Given the description of an element on the screen output the (x, y) to click on. 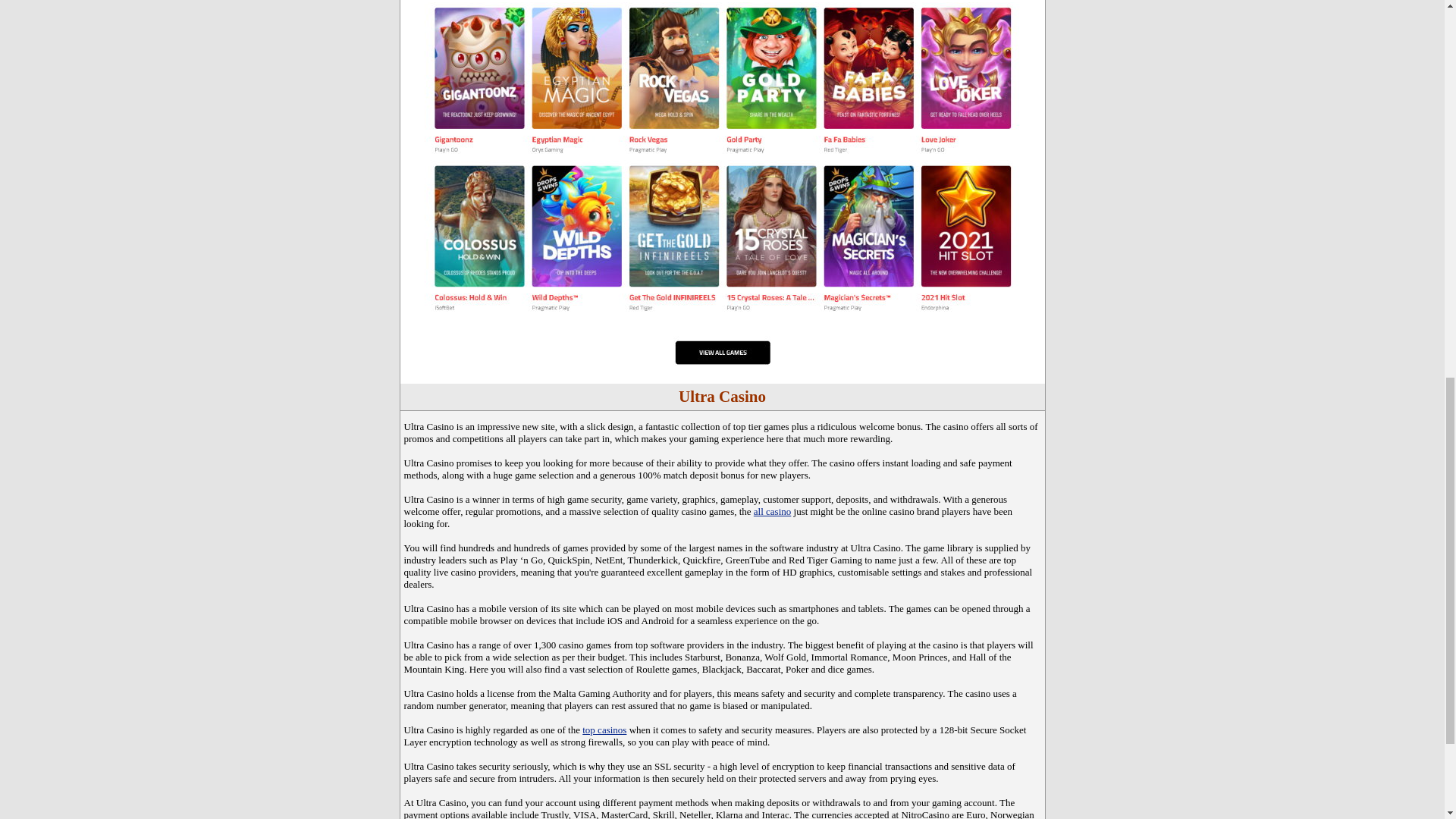
all casino (772, 511)
top casinos (604, 729)
